Given the description of an element on the screen output the (x, y) to click on. 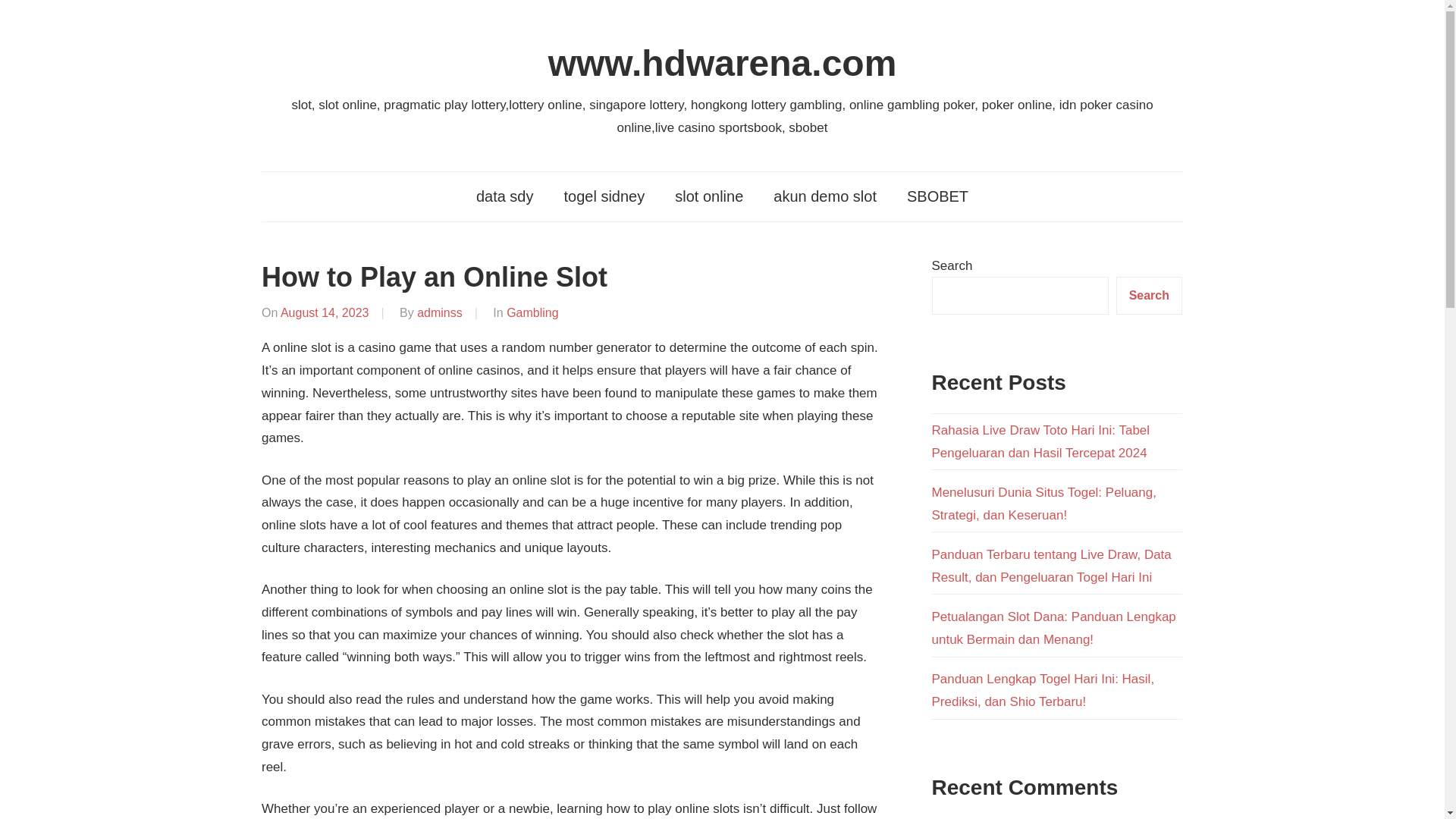
www.hdwarena.com (722, 63)
3:49 pm (325, 312)
adminss (439, 312)
August 14, 2023 (325, 312)
togel sidney (604, 196)
SBOBET (937, 196)
Gambling (531, 312)
akun demo slot (824, 196)
